Given the description of an element on the screen output the (x, y) to click on. 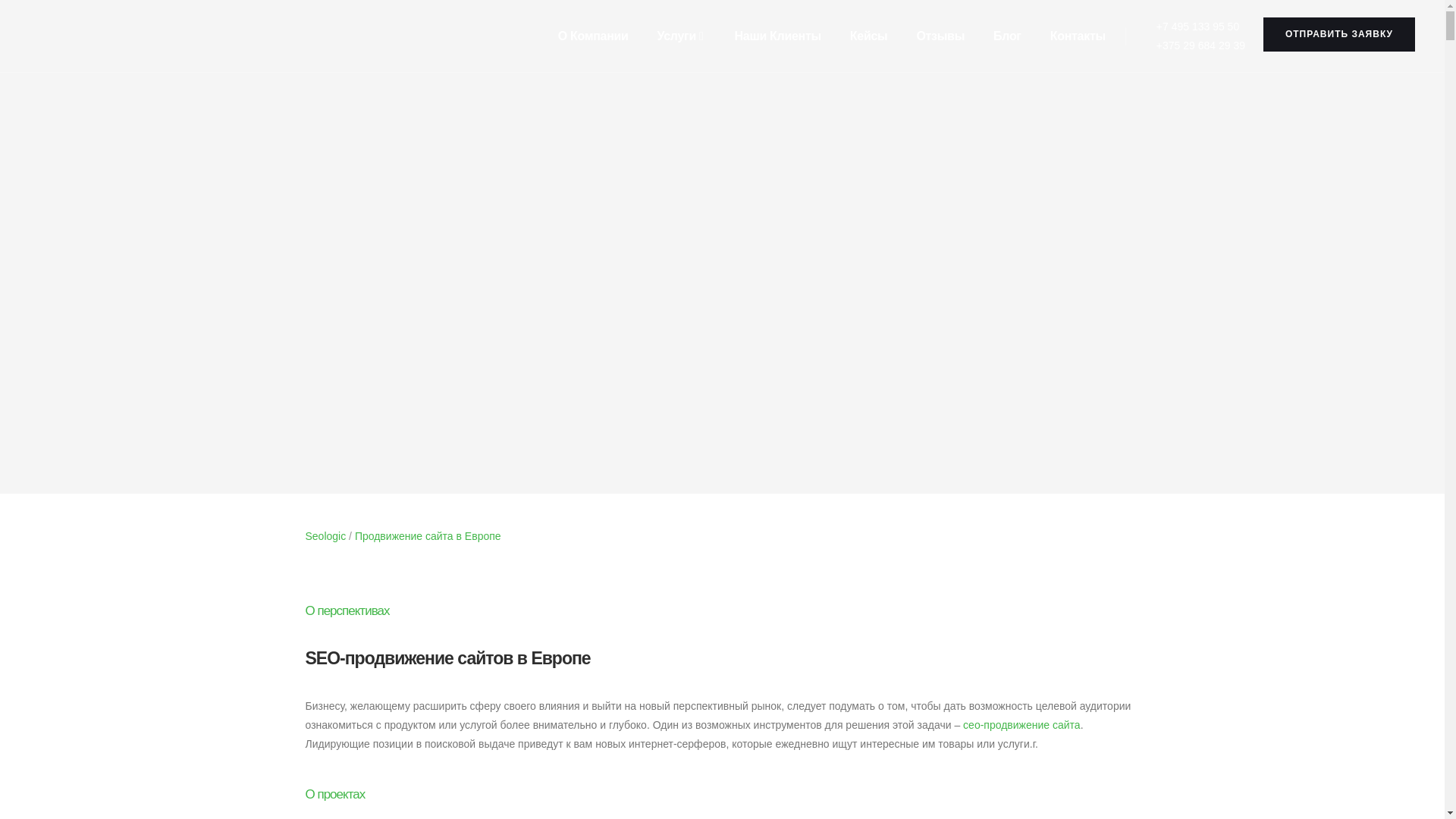
+7 495 133 95 50 Element type: text (1191, 25)
+375 29 684 29 39 Element type: text (1191, 45)
Seologic Element type: text (324, 536)
